Given the description of an element on the screen output the (x, y) to click on. 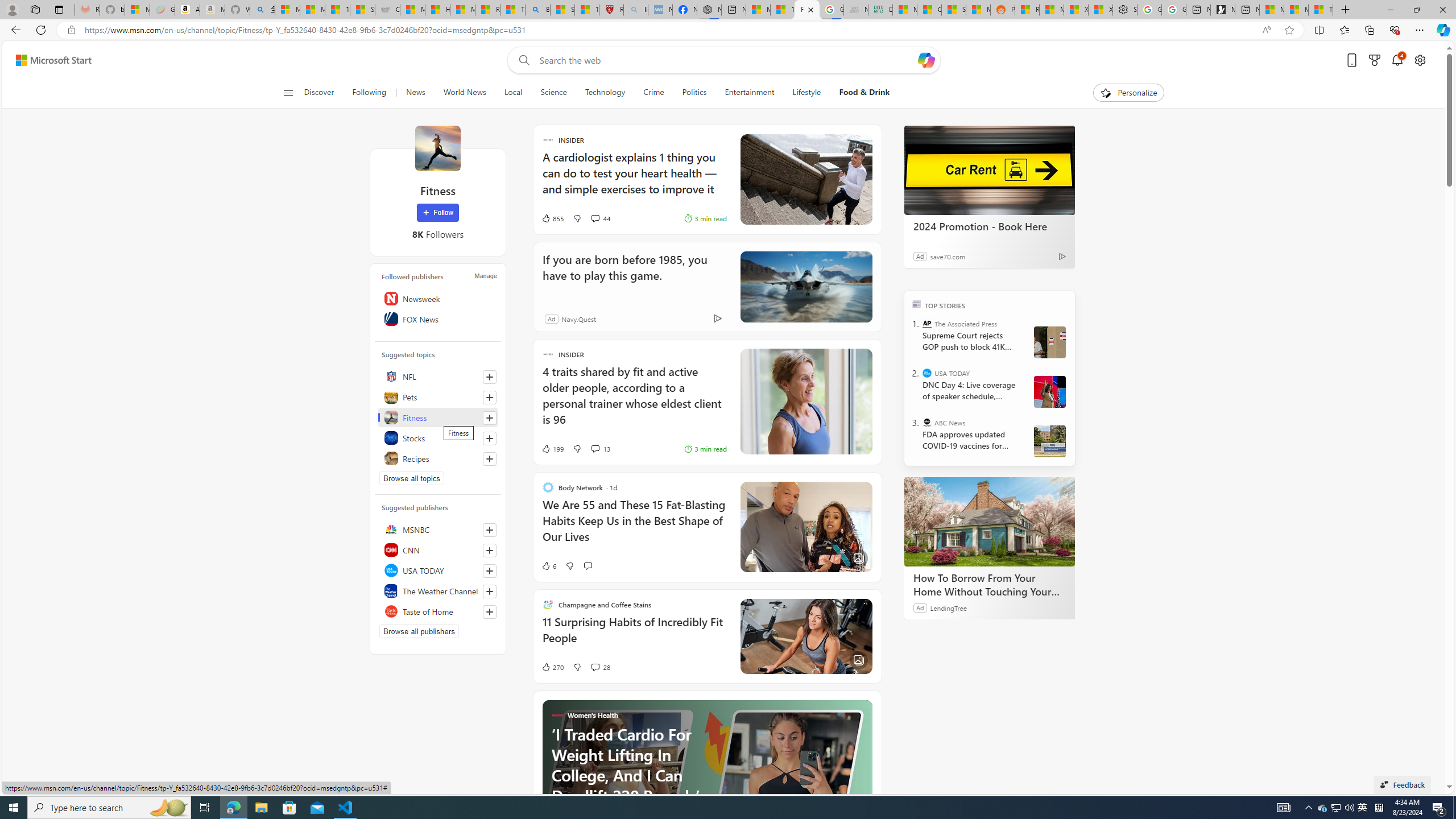
How To Borrow From Your Home Without Touching Your Mortgage (988, 584)
6 Like (547, 565)
Local (512, 92)
Fitness (437, 148)
Crime (653, 92)
Web search (520, 60)
Personalize (1128, 92)
Newsweek (437, 298)
